Given the description of an element on the screen output the (x, y) to click on. 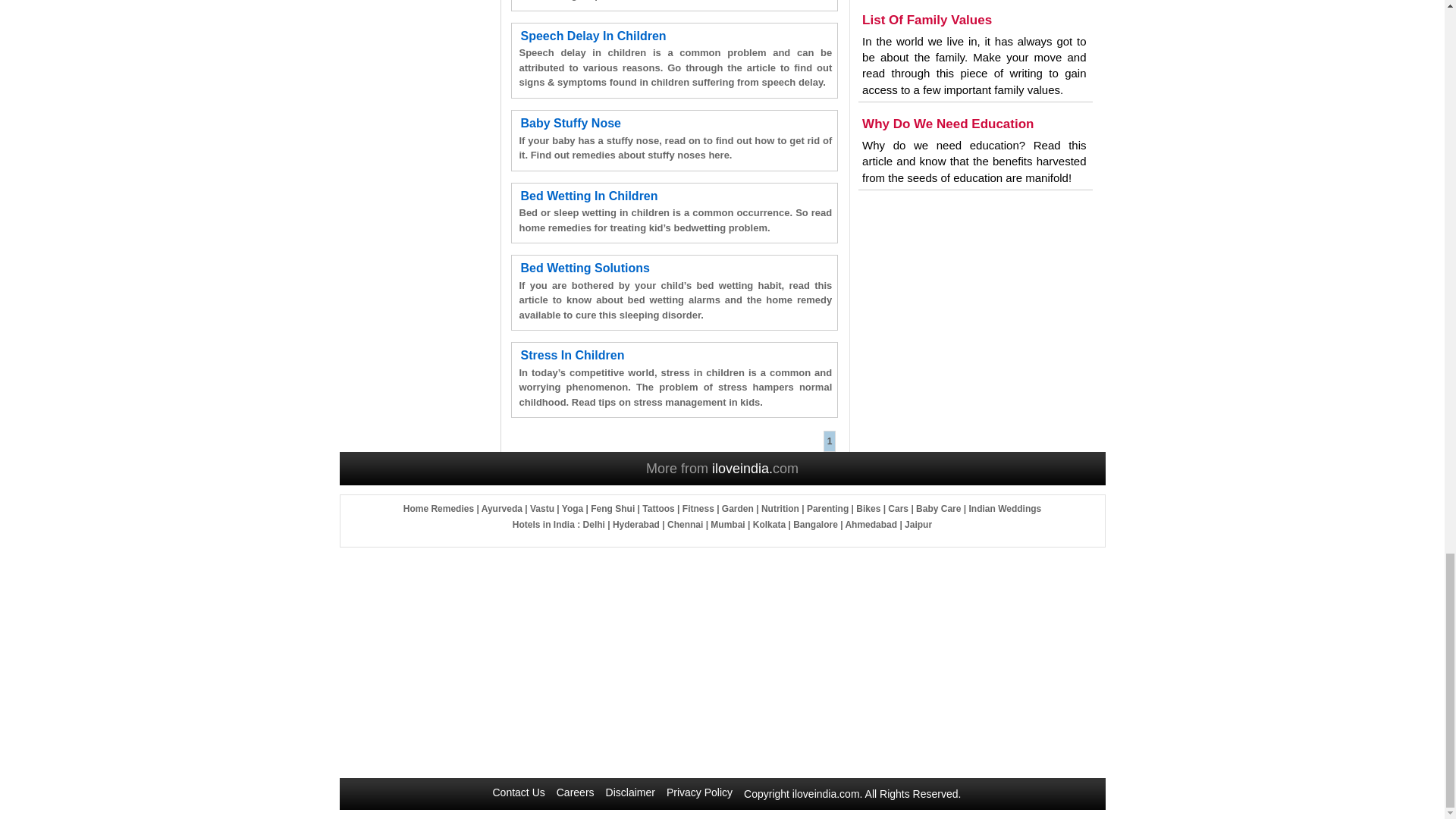
Bed Wetting Solutions (584, 267)
Speech Delay In Children (592, 35)
Baby Stuffy Nose (569, 123)
Bed Wetting In Children (588, 195)
